Given the description of an element on the screen output the (x, y) to click on. 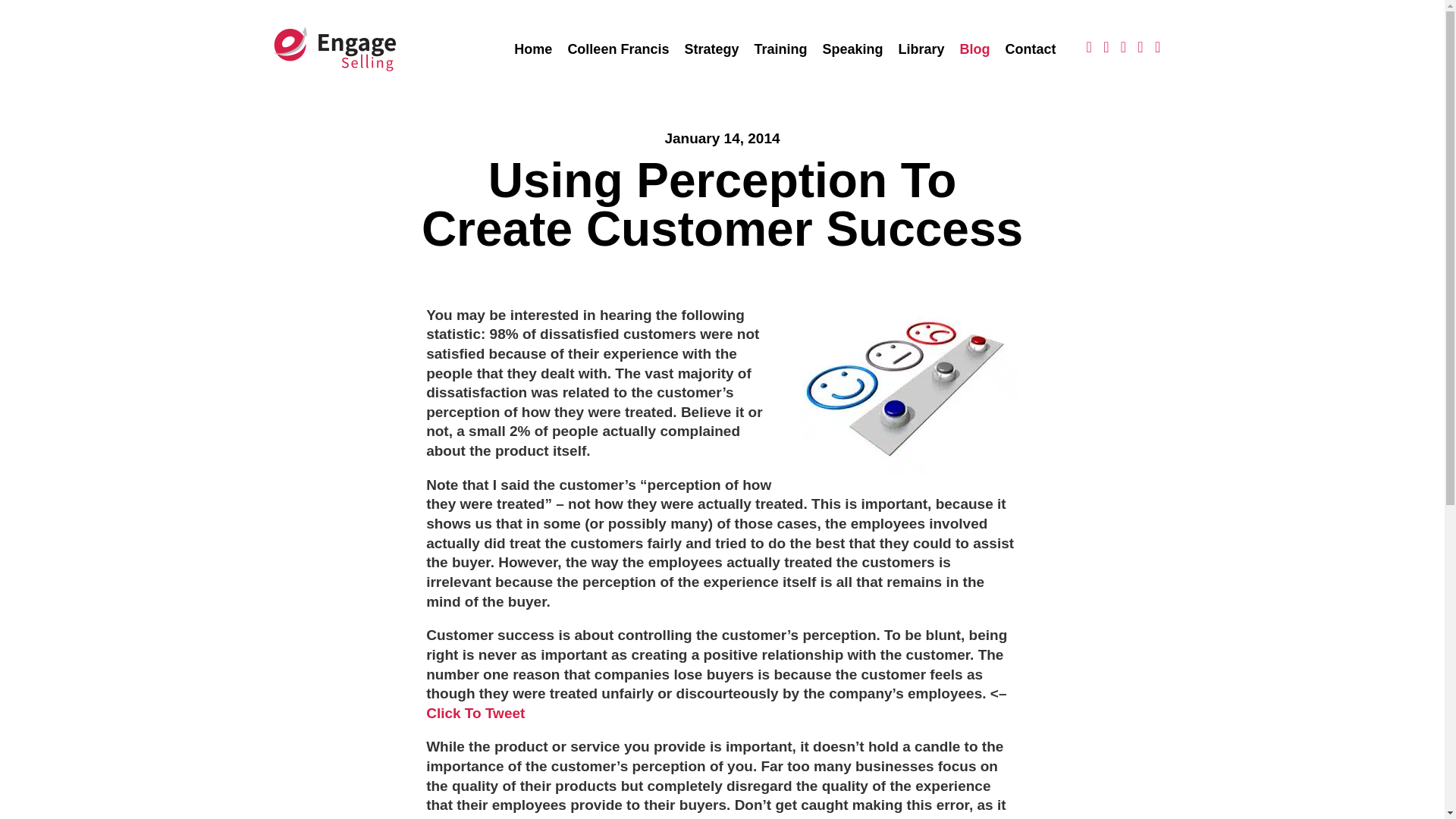
Colleen Francis (617, 49)
Home (532, 49)
Strategy (711, 49)
Training (780, 49)
Contact (1031, 49)
Speaking (852, 49)
Library (920, 49)
Blog (974, 49)
Click To Tweet (475, 713)
